Given the description of an element on the screen output the (x, y) to click on. 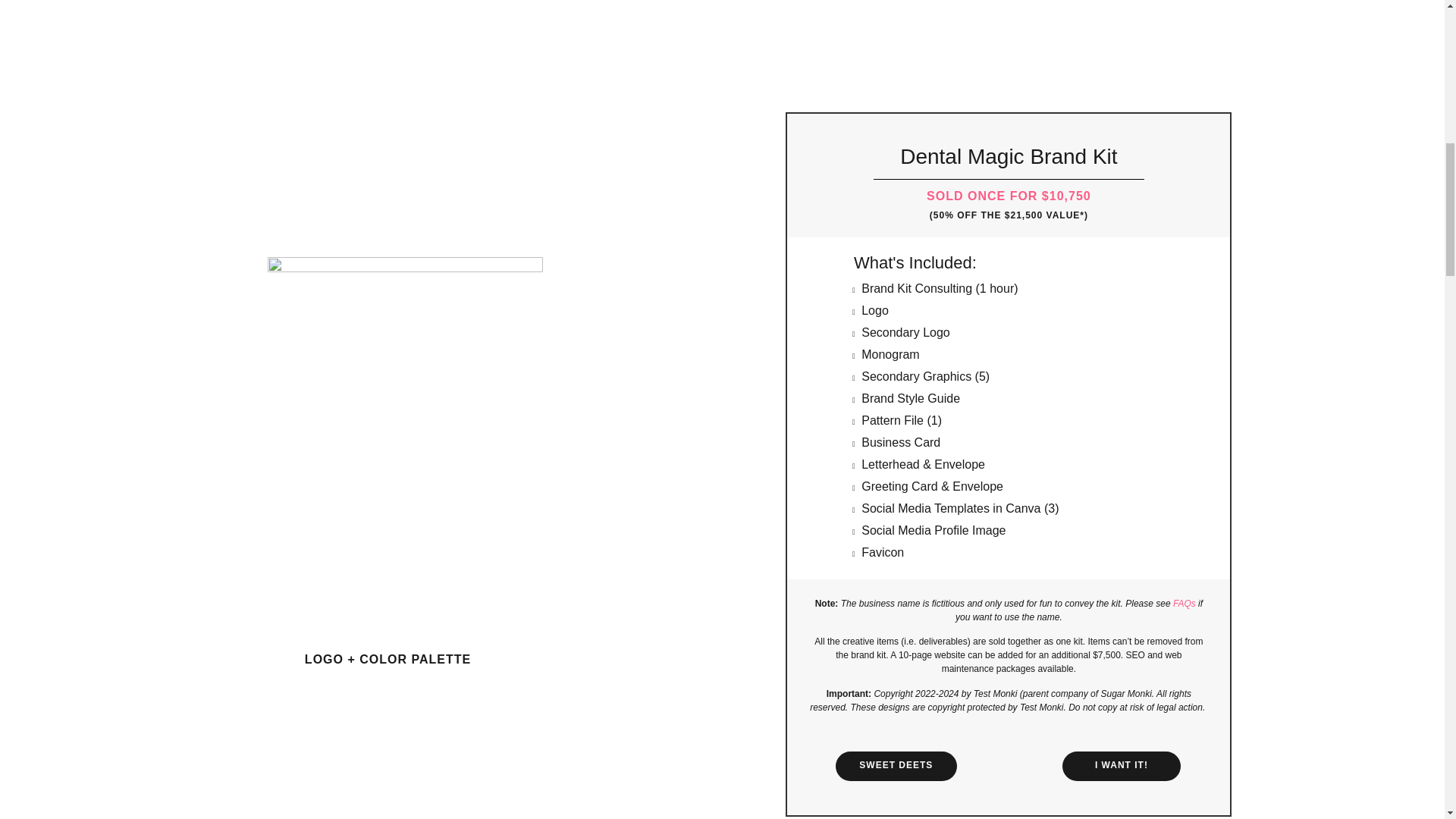
FAQs (1184, 603)
SWEET DEETS (895, 766)
I WANT IT! (1121, 766)
